Given the description of an element on the screen output the (x, y) to click on. 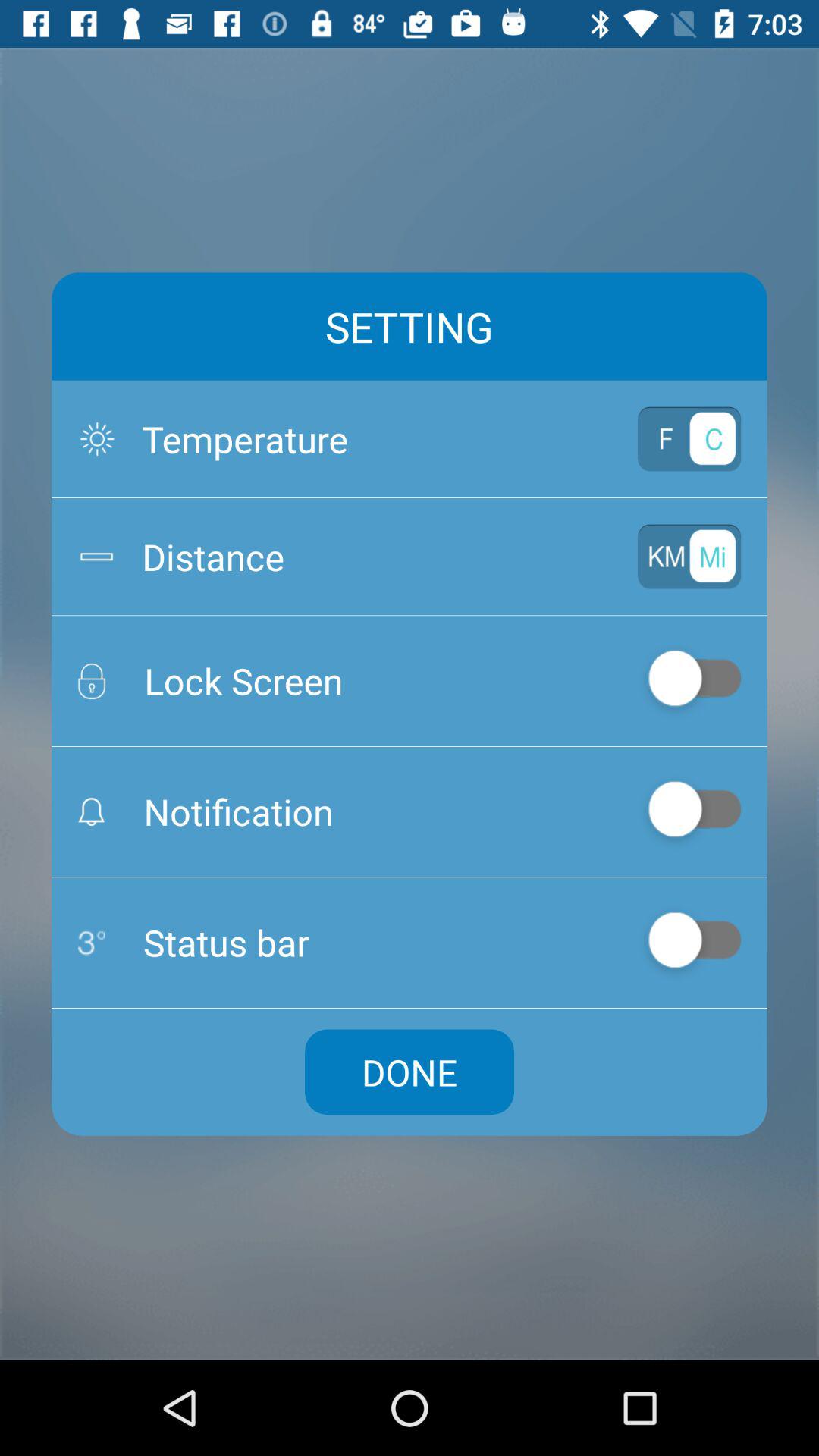
open done icon (409, 1071)
